Given the description of an element on the screen output the (x, y) to click on. 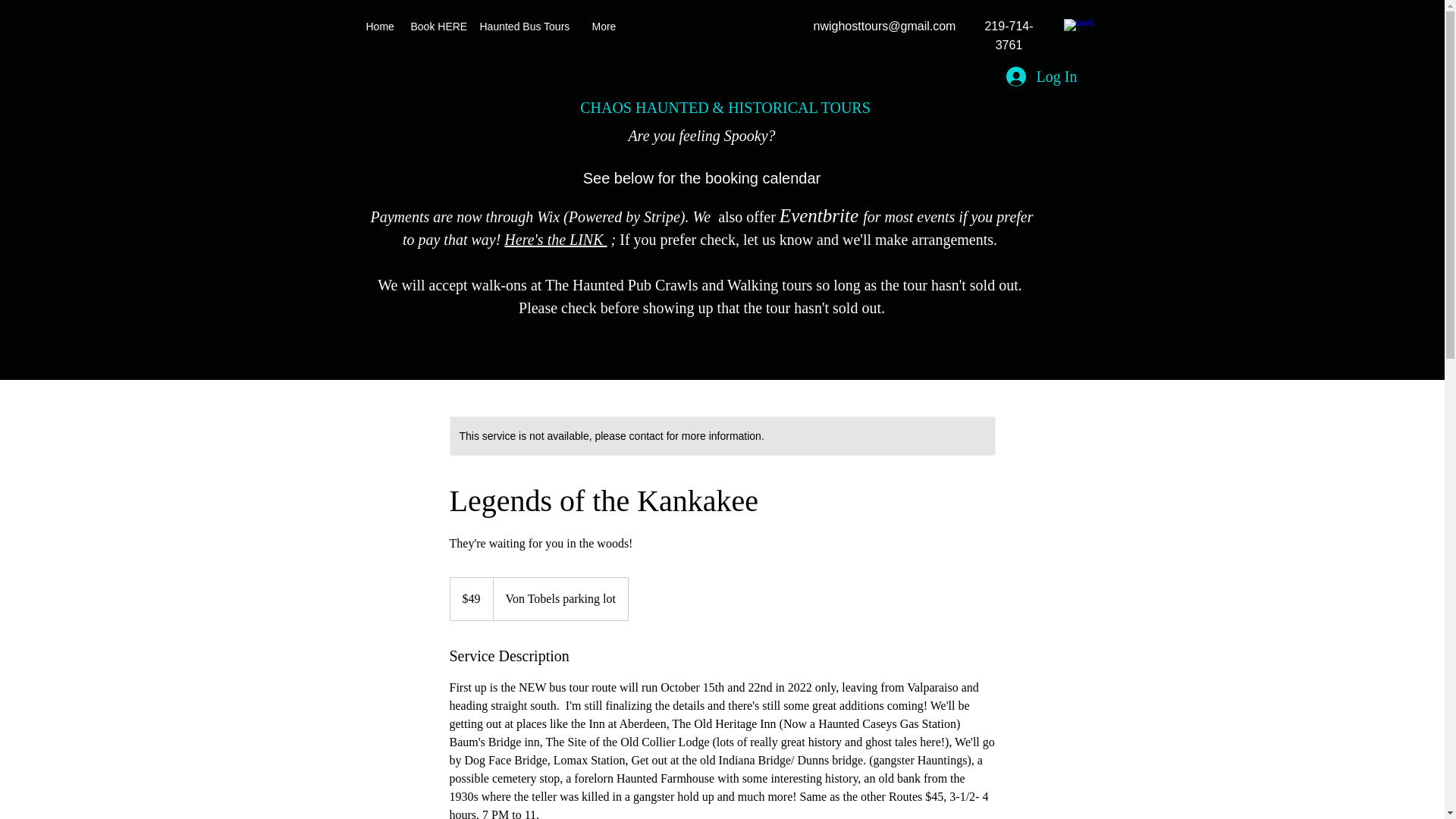
Book HERE (437, 26)
Log In (1040, 76)
Here's the LINK  (555, 239)
Home (380, 26)
Haunted Bus Tours (527, 26)
